Given the description of an element on the screen output the (x, y) to click on. 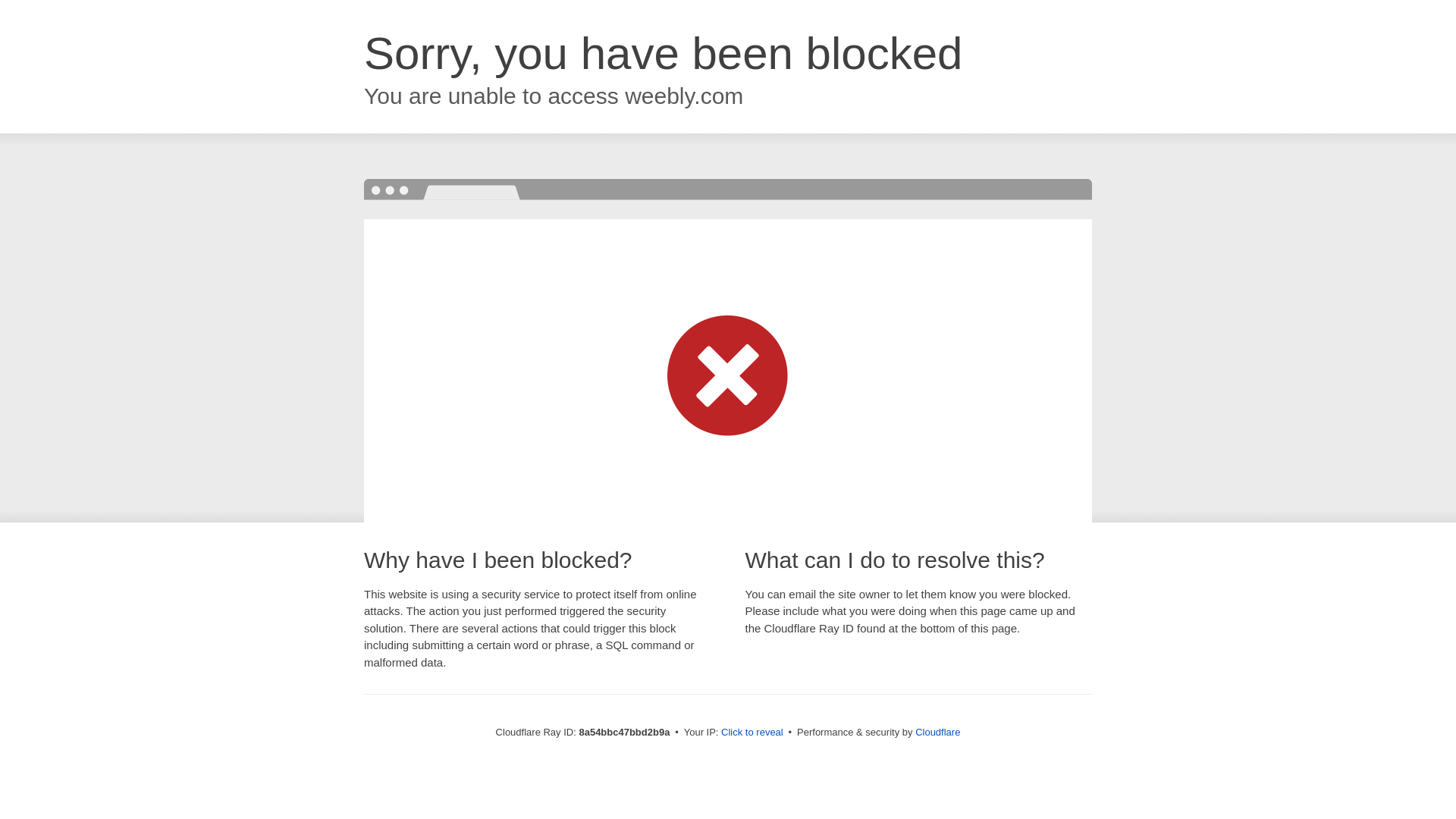
Cloudflare (937, 731)
Click to reveal (751, 732)
